Given the description of an element on the screen output the (x, y) to click on. 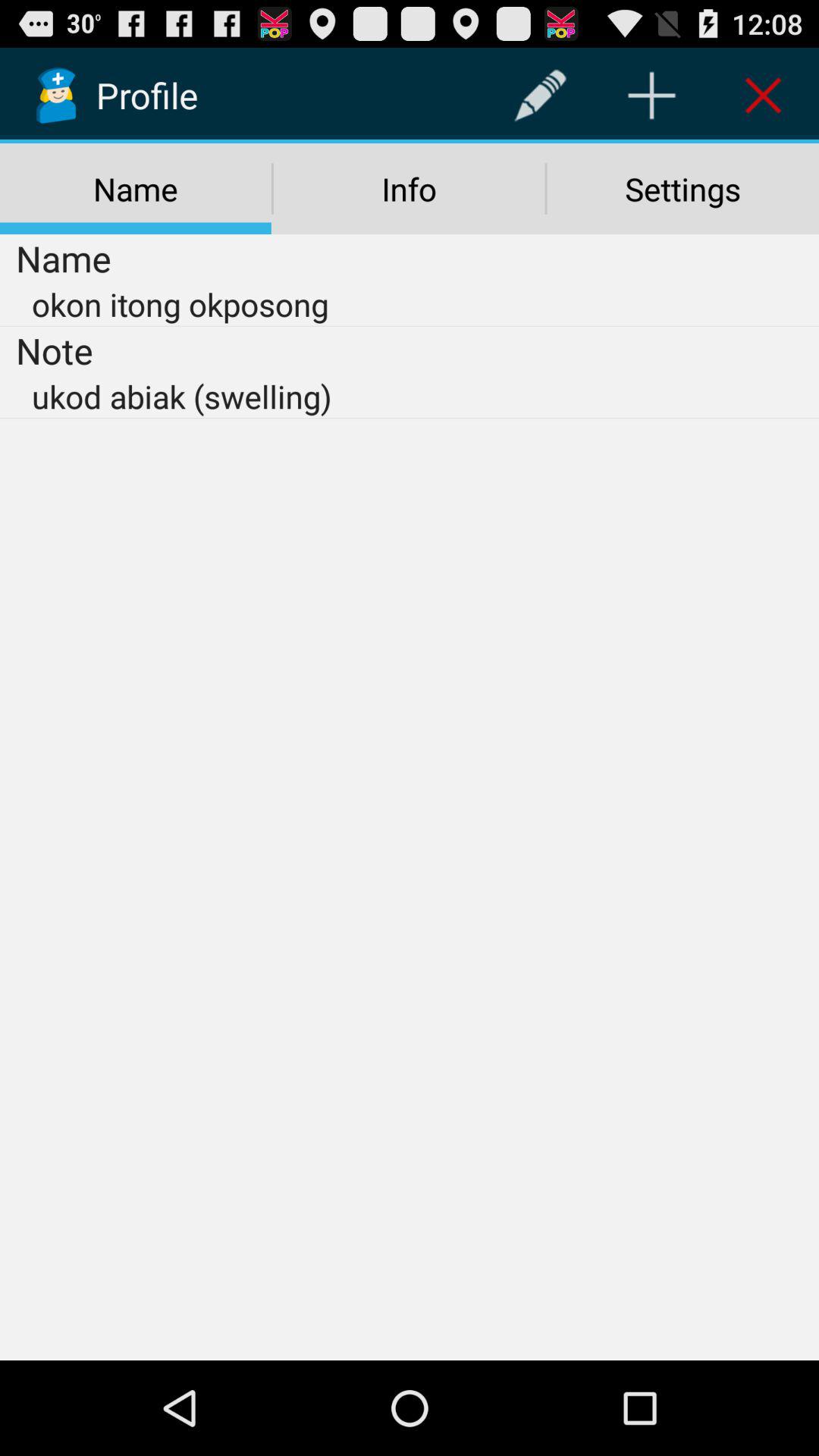
choose the icon next to info item (683, 188)
